Given the description of an element on the screen output the (x, y) to click on. 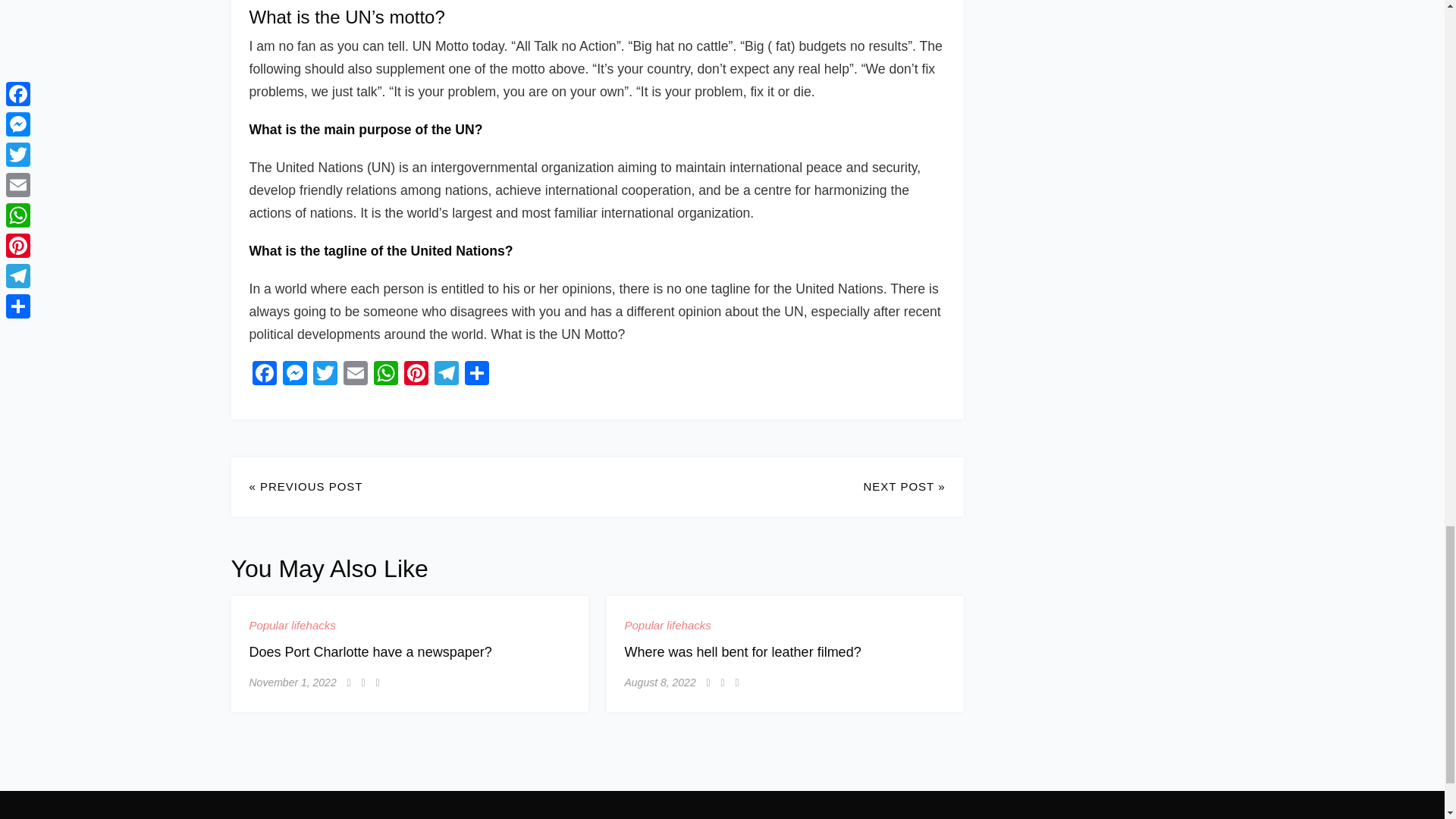
Telegram (445, 375)
Popular lifehacks (291, 625)
Does Port Charlotte have a newspaper? (370, 651)
Pinterest (415, 375)
Email (354, 375)
Popular lifehacks (667, 625)
Telegram (445, 375)
WhatsApp (384, 375)
Twitter (323, 375)
Twitter (323, 375)
